Given the description of an element on the screen output the (x, y) to click on. 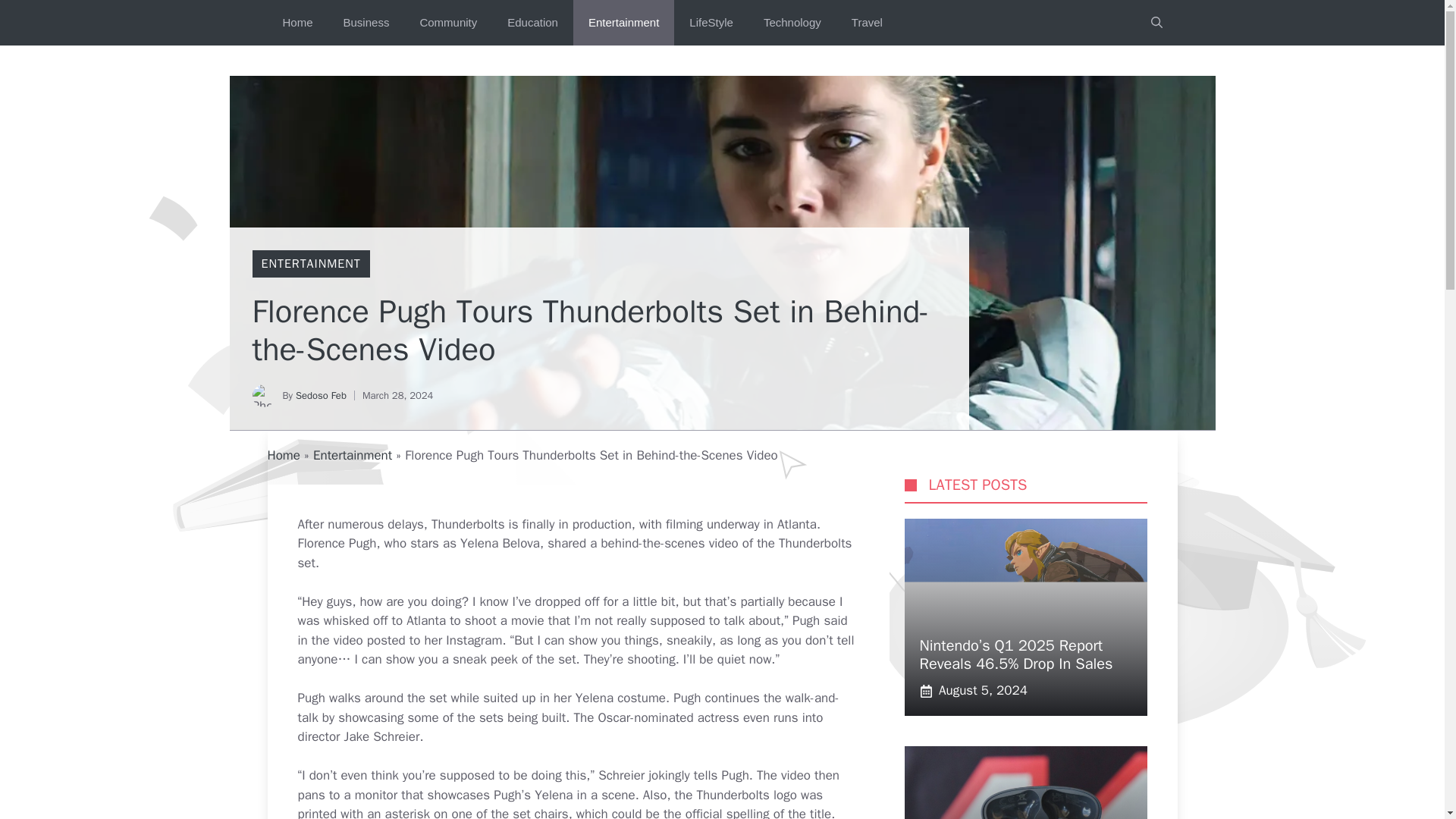
Travel (866, 22)
Community (448, 22)
LifeStyle (711, 22)
Home (296, 22)
Entertainment (623, 22)
Home (282, 455)
Business (366, 22)
Education (532, 22)
Technology (791, 22)
Entertainment (352, 455)
